Given the description of an element on the screen output the (x, y) to click on. 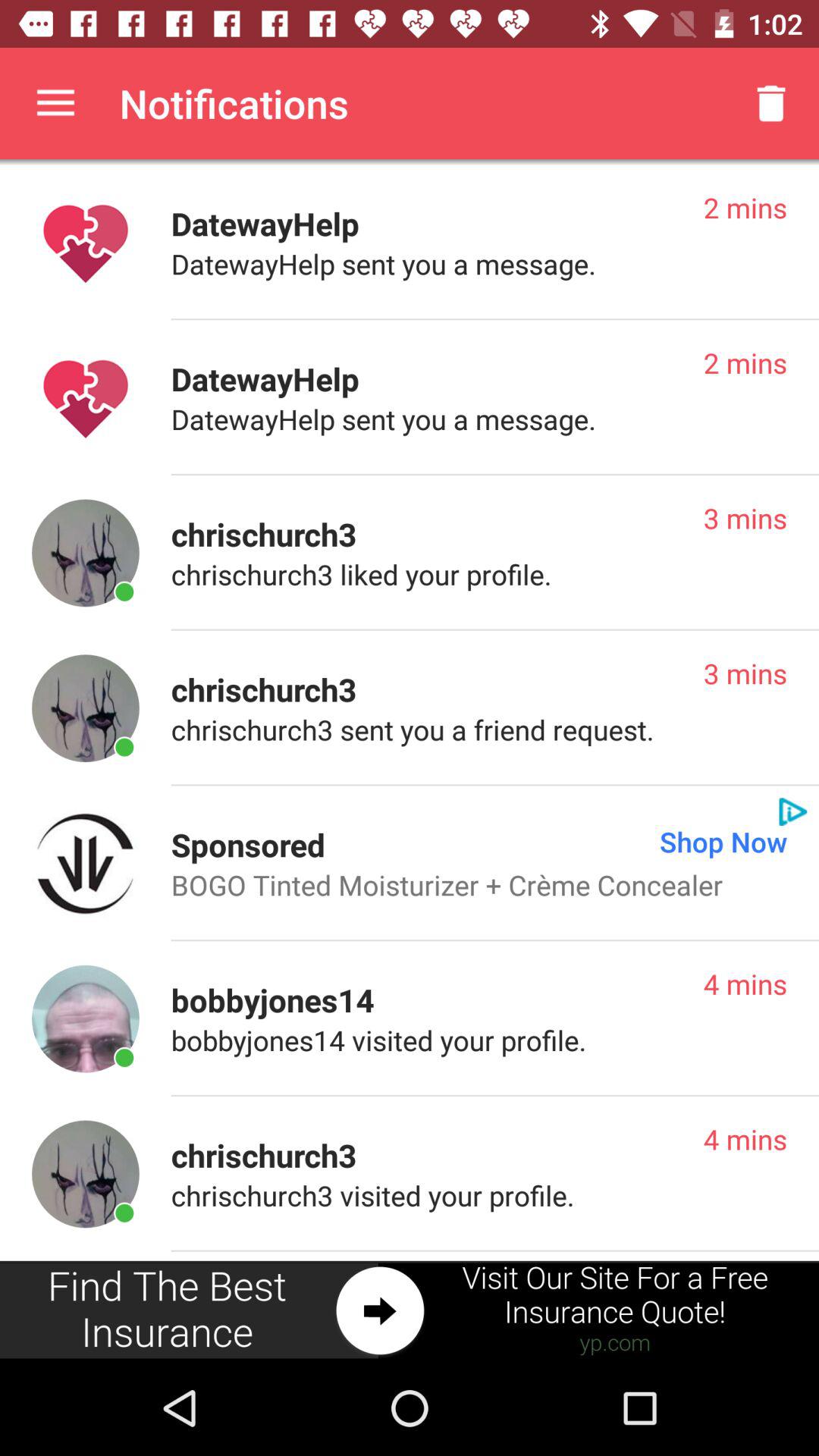
click on the first heart image which is on the left of datewayhelp (85, 243)
go to the icon present in the top most right corner (771, 103)
